Given the description of an element on the screen output the (x, y) to click on. 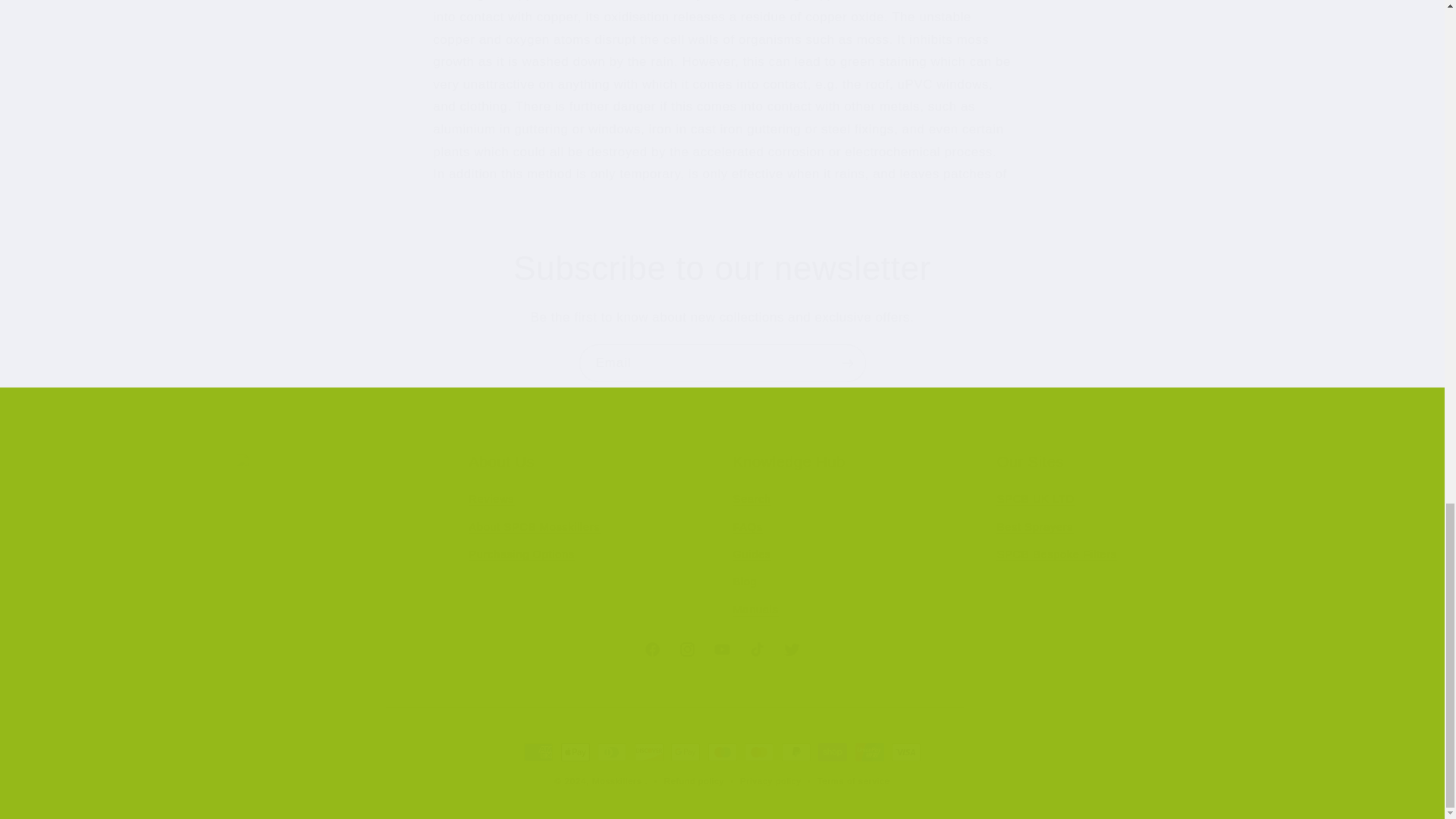
Subscribe to our newsletter (853, 538)
Email (722, 268)
